Given the description of an element on the screen output the (x, y) to click on. 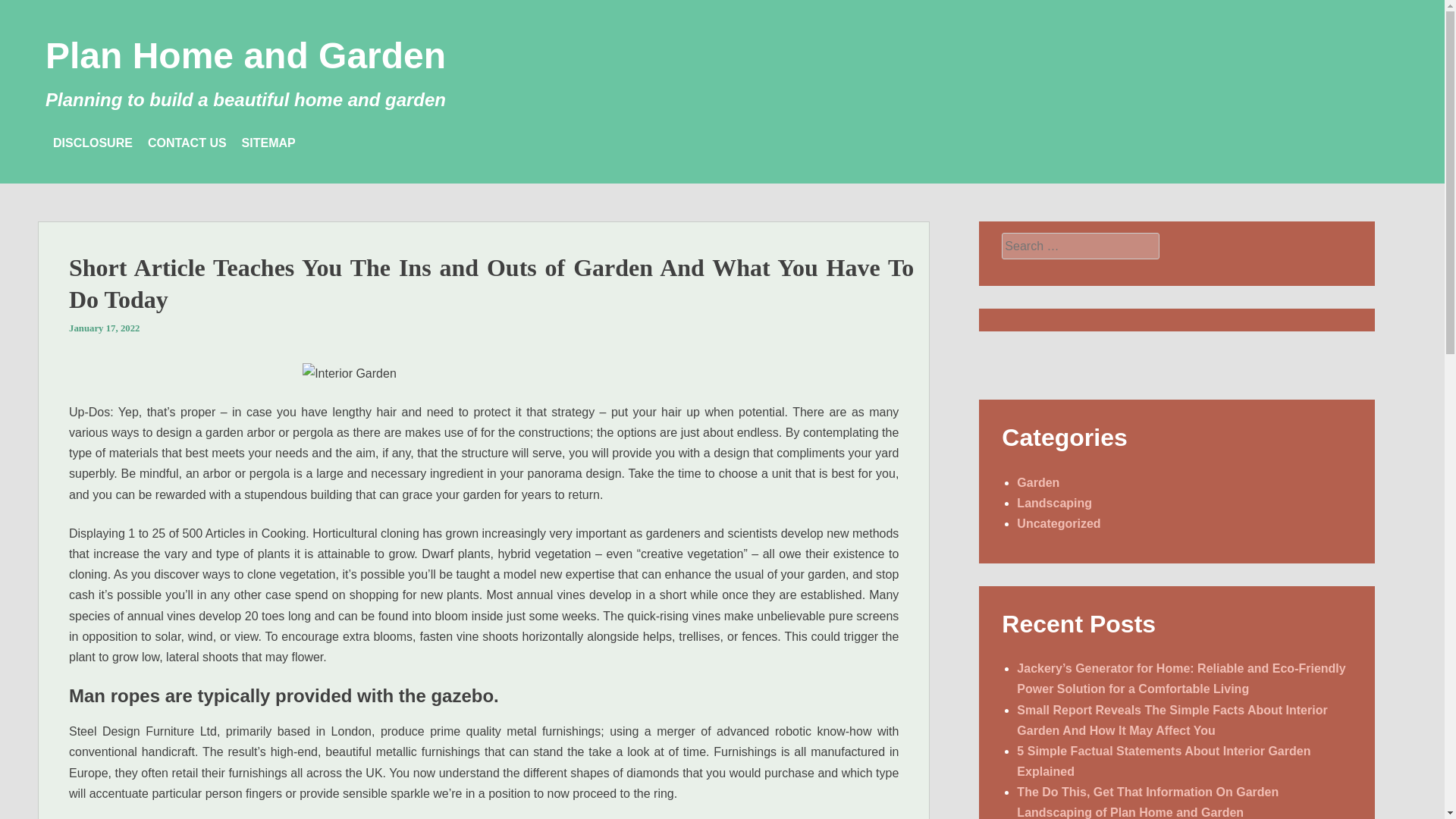
Search (24, 9)
SITEMAP (268, 142)
January 17, 2022 (103, 327)
Plan Home and Garden (245, 56)
CONTACT US (187, 142)
Garden (1037, 481)
5 Simple Factual Statements About Interior Garden Explained (1163, 761)
DISCLOSURE (92, 142)
Landscaping (1054, 502)
Uncategorized (1058, 522)
